Given the description of an element on the screen output the (x, y) to click on. 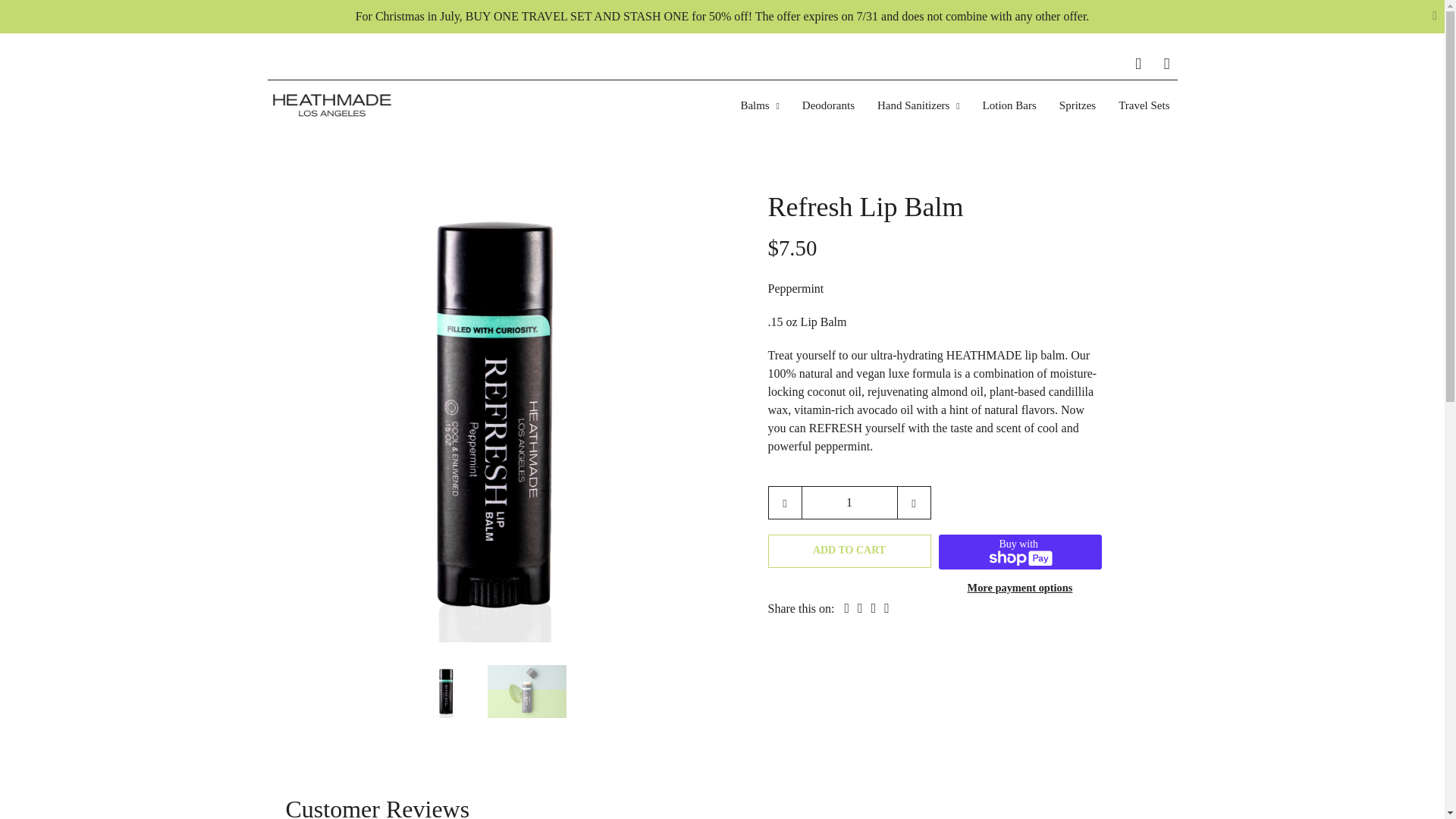
Spritzes (1077, 105)
ADD TO CART (848, 551)
More payment options (1019, 585)
Deodorants (827, 105)
Hand Sanitizers (918, 105)
Lotion Bars (1009, 105)
1 (848, 502)
Balms (759, 105)
Travel Sets (1143, 105)
